Given the description of an element on the screen output the (x, y) to click on. 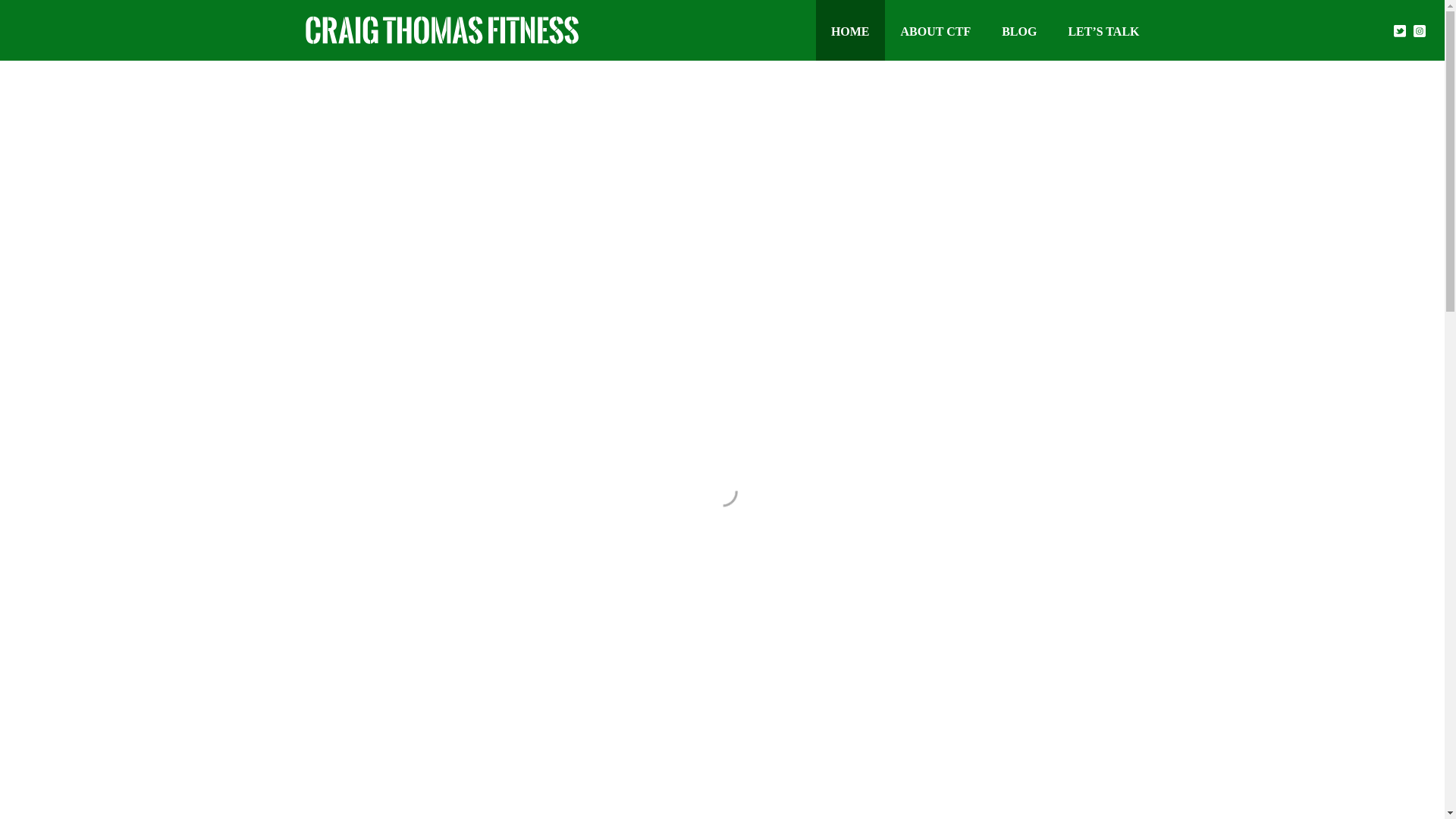
Executive Personal Training for NY and NJ (441, 30)
HOME (850, 30)
BLOG (1019, 30)
ABOUT CTF (936, 30)
ABOUT CTF (936, 30)
HOME (850, 30)
BLOG (1019, 30)
